Given the description of an element on the screen output the (x, y) to click on. 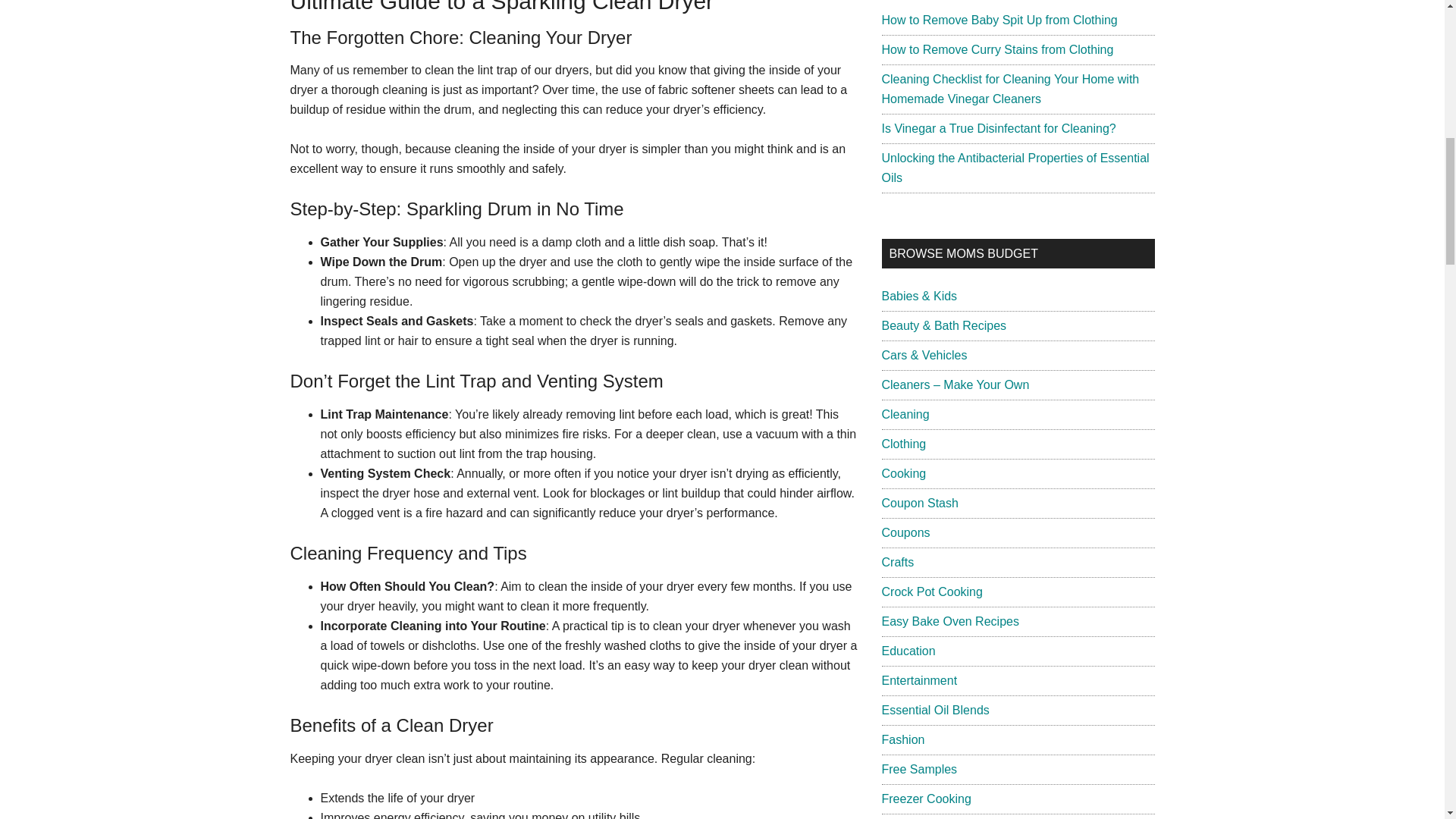
How to Remove Curry Stains from Clothing (996, 49)
Cleaning (904, 413)
Cooking (903, 472)
Crock Pot Cooking (930, 591)
Entertainment (918, 680)
Coupons (905, 532)
Crafts (897, 562)
Coupon Stash (919, 502)
Education (907, 650)
Is Vinegar a True Disinfectant for Cleaning? (997, 128)
Easy Bake Oven Recipes (948, 621)
Unlocking the Antibacterial Properties of Essential Oils (1014, 167)
How to Remove Baby Spit Up from Clothing (998, 19)
Clothing (903, 443)
